Given the description of an element on the screen output the (x, y) to click on. 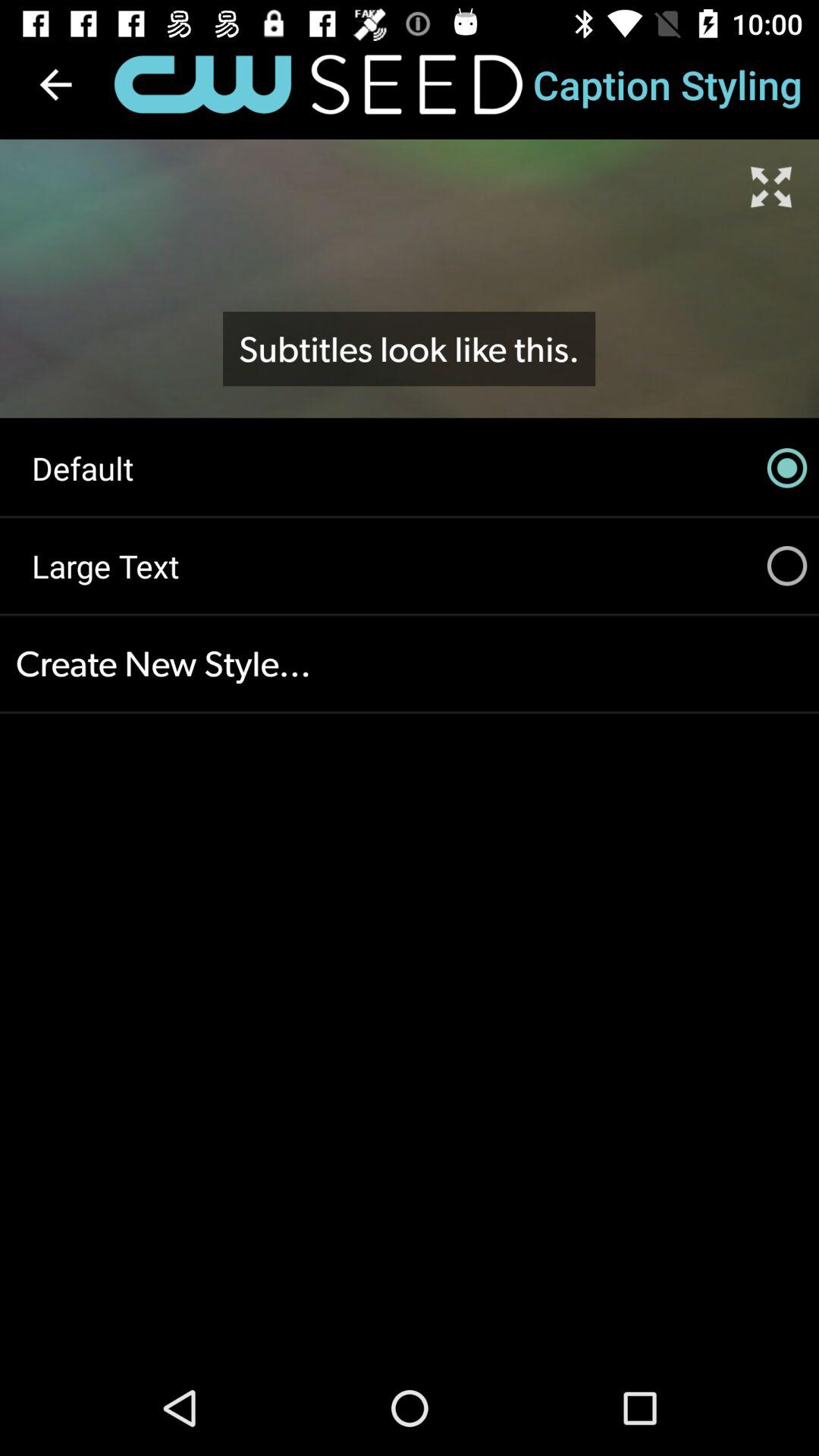
turn on the icon above the default icon (55, 84)
